Given the description of an element on the screen output the (x, y) to click on. 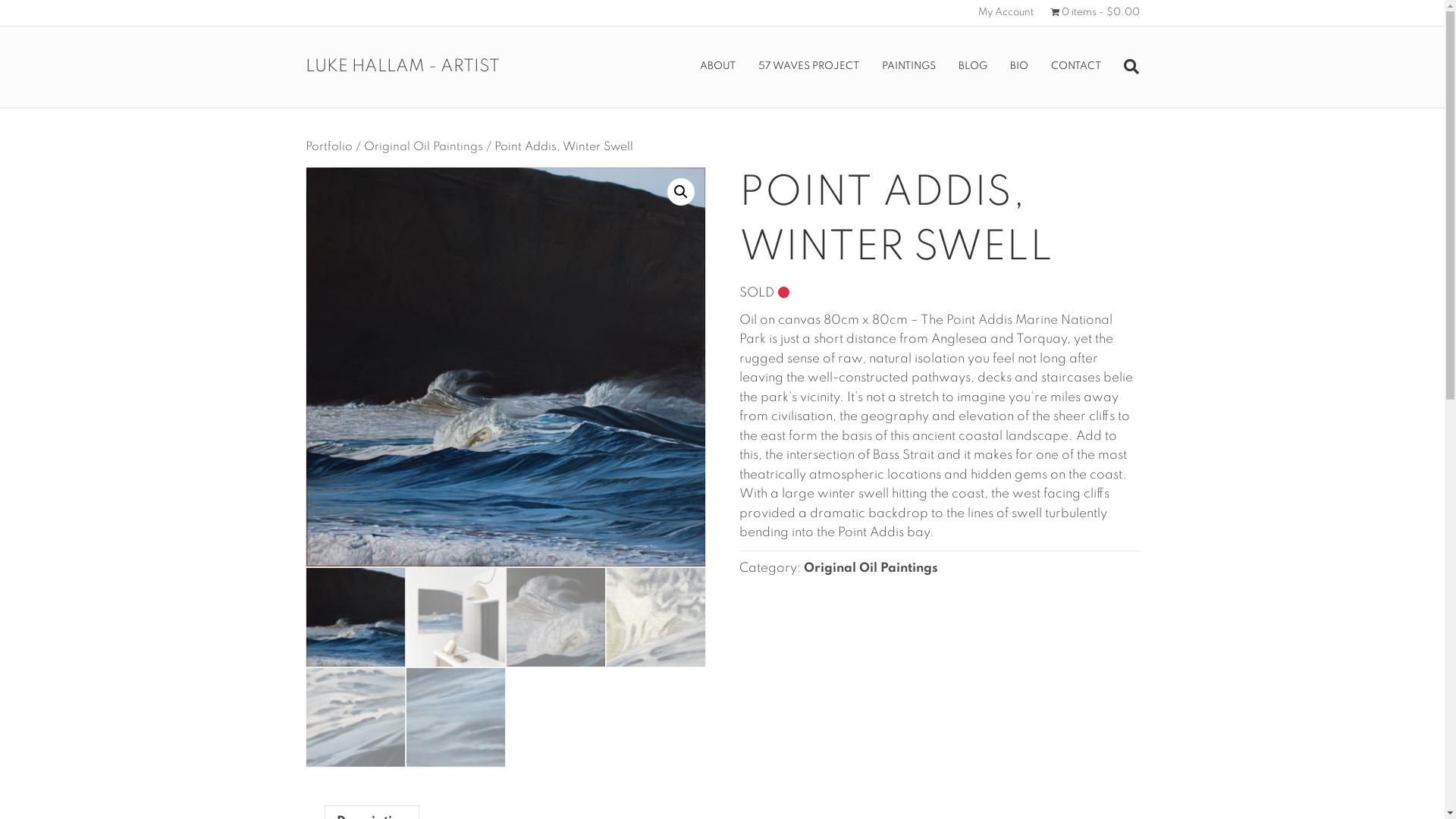
57 WAVES PROJECT Element type: text (808, 66)
0 items$0.00 Element type: text (1095, 12)
Point Addis Marine National Park Element type: text (924, 329)
Original Oil Paintings Element type: text (870, 567)
Original Oil Paintings Element type: text (423, 147)
ABOUT Element type: text (717, 66)
Portfolio Element type: text (327, 147)
BIO Element type: text (1018, 66)
PAINTINGS Element type: text (908, 66)
BLOG Element type: text (972, 66)
My Account Element type: text (1005, 12)
CONTACT Element type: text (1075, 66)
Point Addis, Winter Swell - Luke Hallam Element type: hover (504, 366)
LUKE HALLAM - ARTIST Element type: text (437, 66)
